Given the description of an element on the screen output the (x, y) to click on. 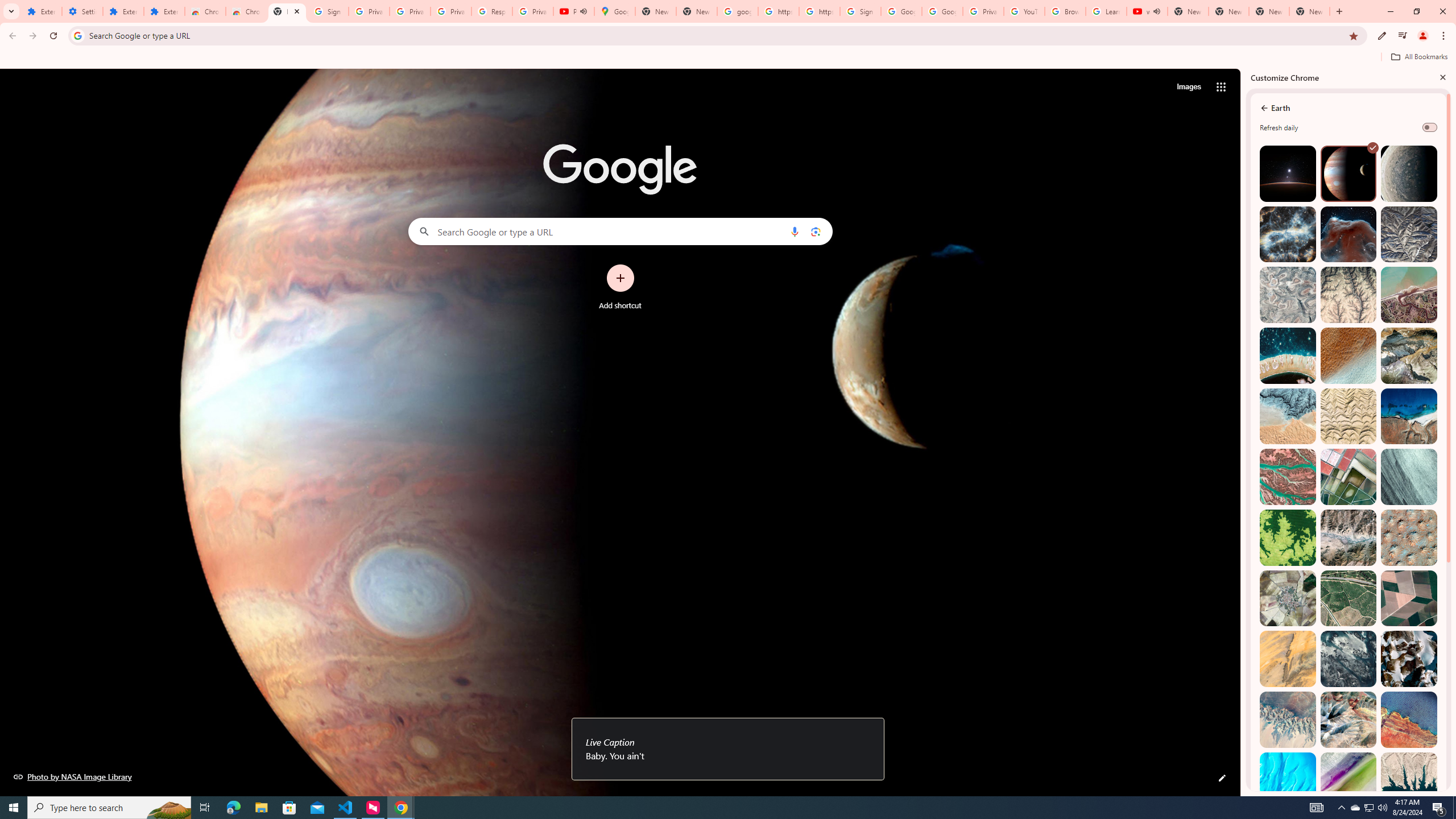
Extensions (122, 11)
Customize this page (1221, 778)
YouTube (1023, 11)
Extensions (41, 11)
South Eleuthera, The Bahamas (1287, 780)
Refresh daily (1429, 126)
Ngari, China (1348, 719)
Side Panel Resize Handle (1242, 431)
Nanggroe Aceh Darussalam, Indonesia (1408, 294)
Utrera, Spain (1408, 598)
Sanaag, Somalia (1348, 294)
